Given the description of an element on the screen output the (x, y) to click on. 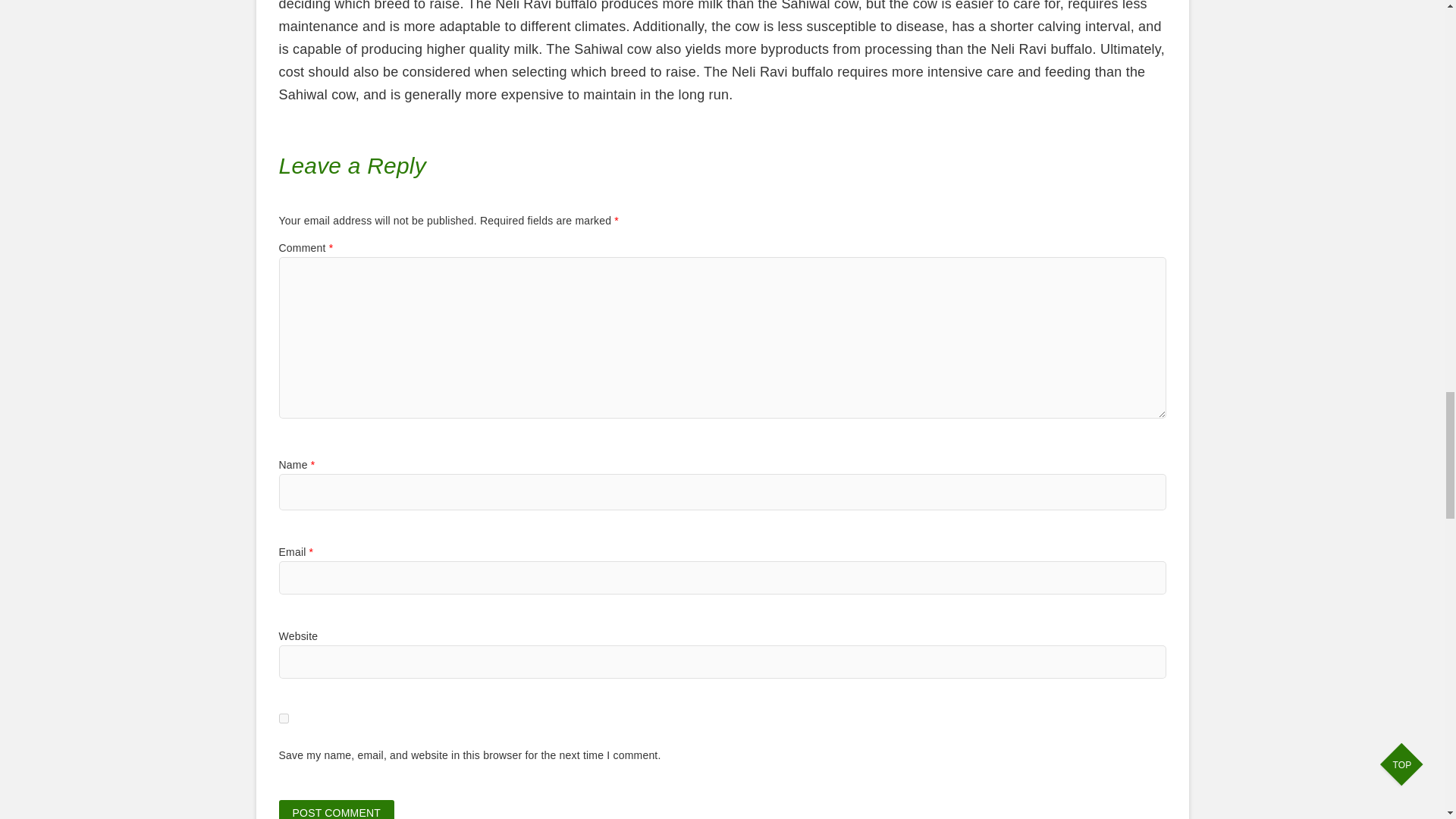
Post Comment (336, 809)
yes (283, 718)
Post Comment (336, 809)
